Given the description of an element on the screen output the (x, y) to click on. 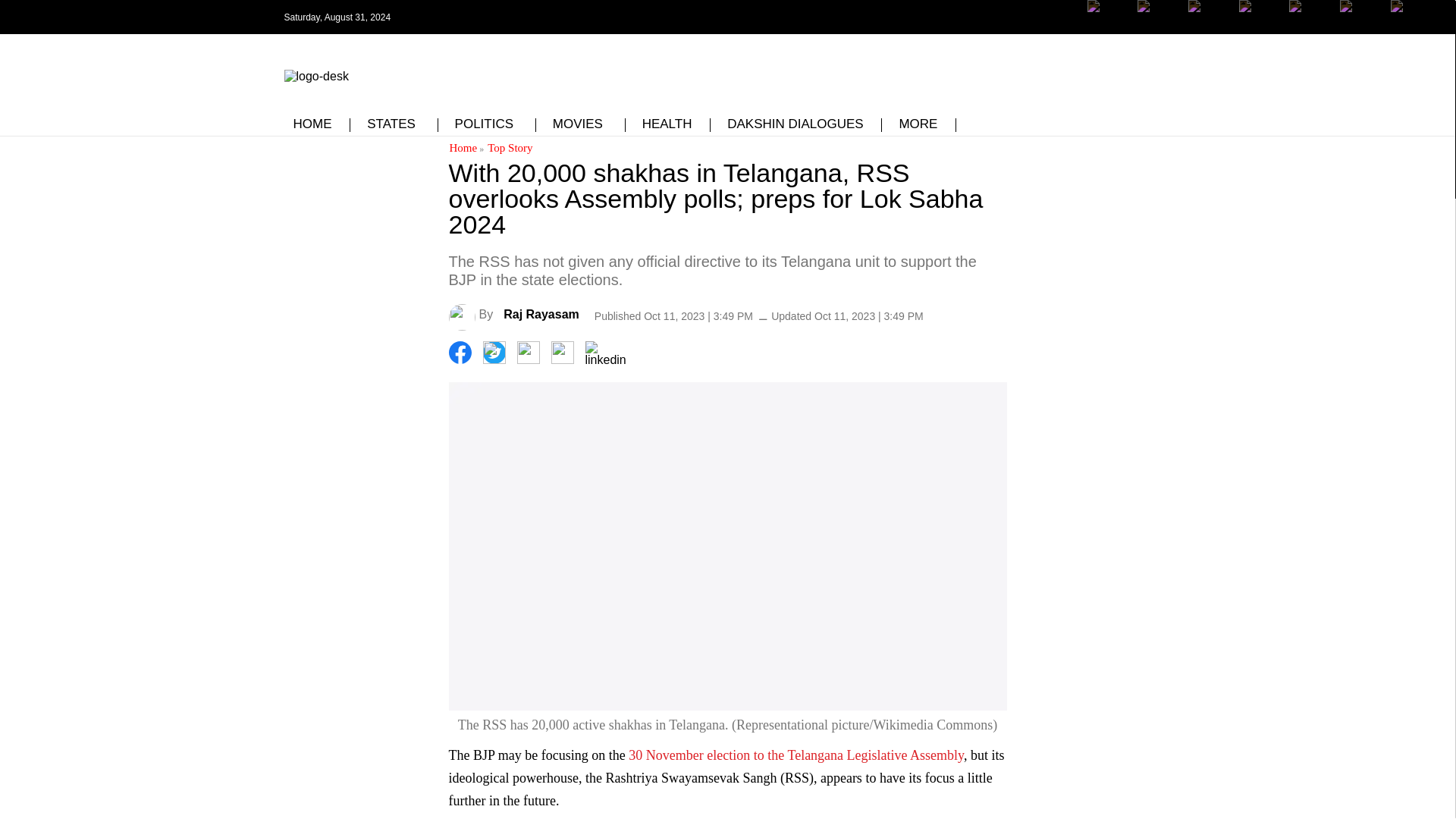
SouthFirst twitter (1158, 16)
SouthFirst facebook (1108, 16)
logo-desk (315, 76)
SouthFirst twitter (1158, 27)
logo (315, 72)
SouthFirst youtube (1260, 16)
SouthFirst youtube (1260, 27)
SouthFirst youtube (1309, 27)
SouthFirst instagram (1209, 27)
SouthFirst youtube (1309, 16)
